Given the description of an element on the screen output the (x, y) to click on. 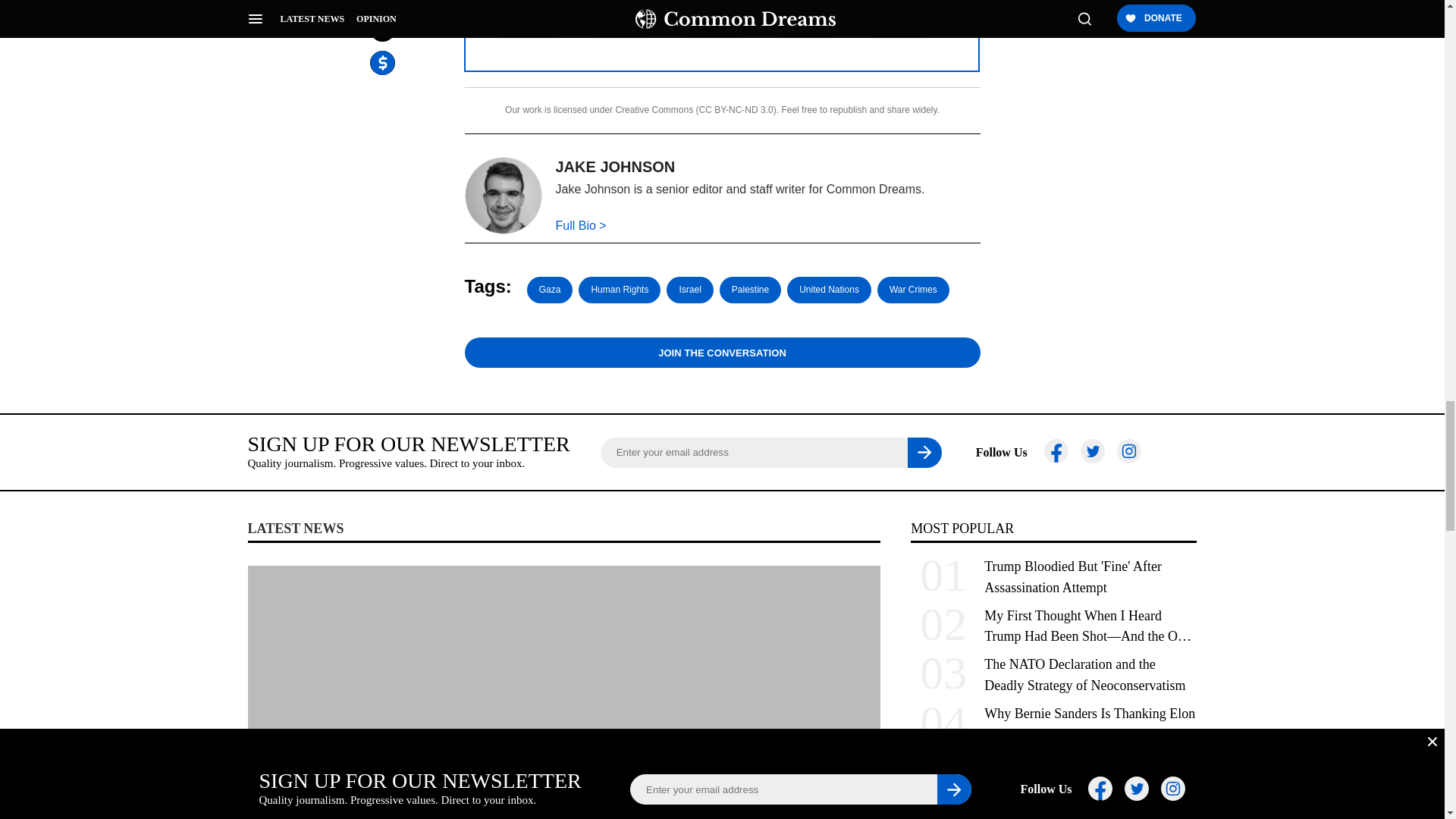
Donate Button Group (721, 19)
